Given the description of an element on the screen output the (x, y) to click on. 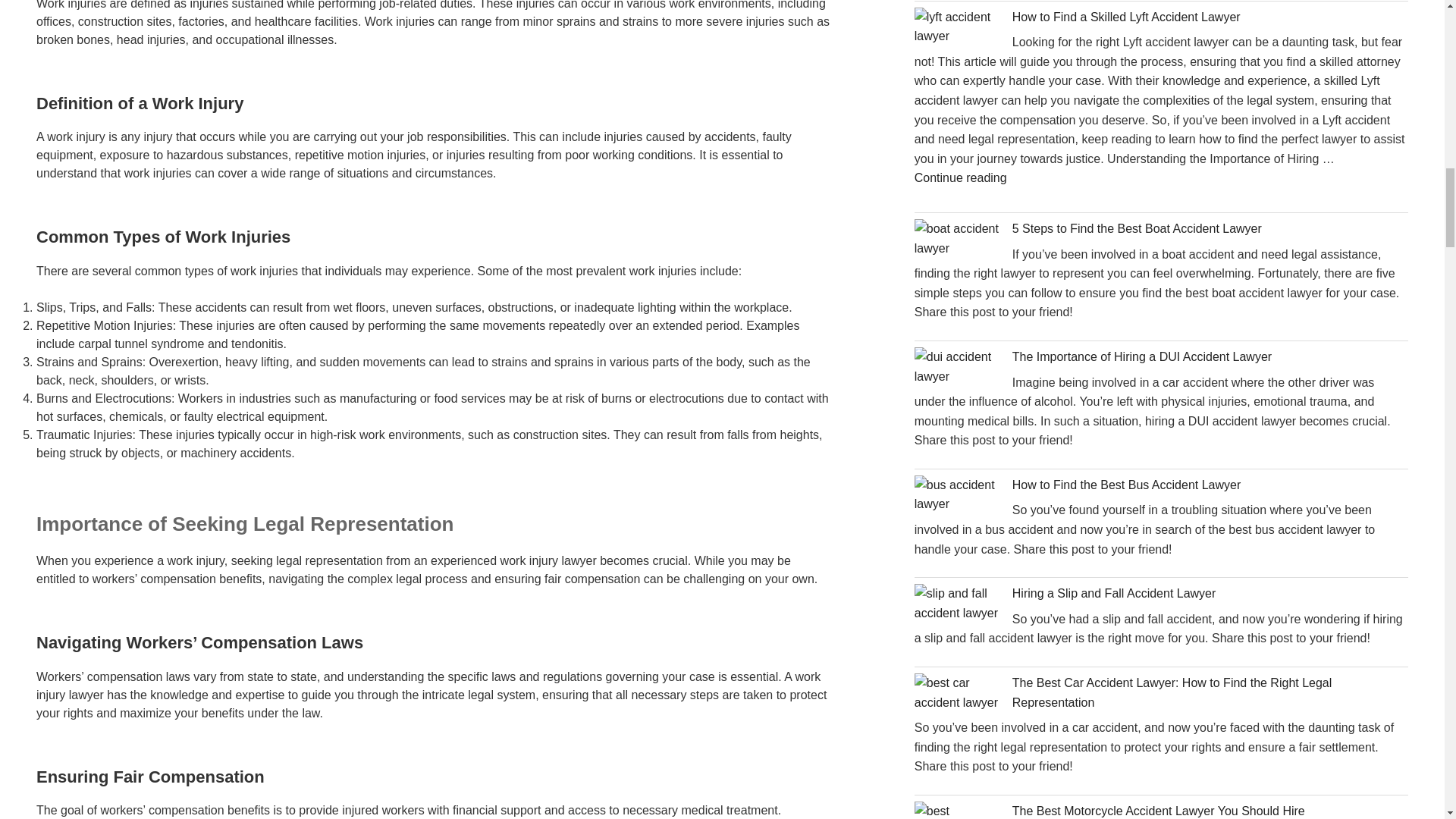
How to Find the Best Bus Accident Lawyer (1125, 484)
The Importance of Hiring a DUI Accident Lawyer (1141, 356)
5 Steps to Find the Best Boat Accident Lawyer (1136, 228)
Hiring a Slip and Fall Accident Lawyer (1113, 593)
How to Find a Skilled Lyft Accident Lawyer (1125, 16)
